Given the description of an element on the screen output the (x, y) to click on. 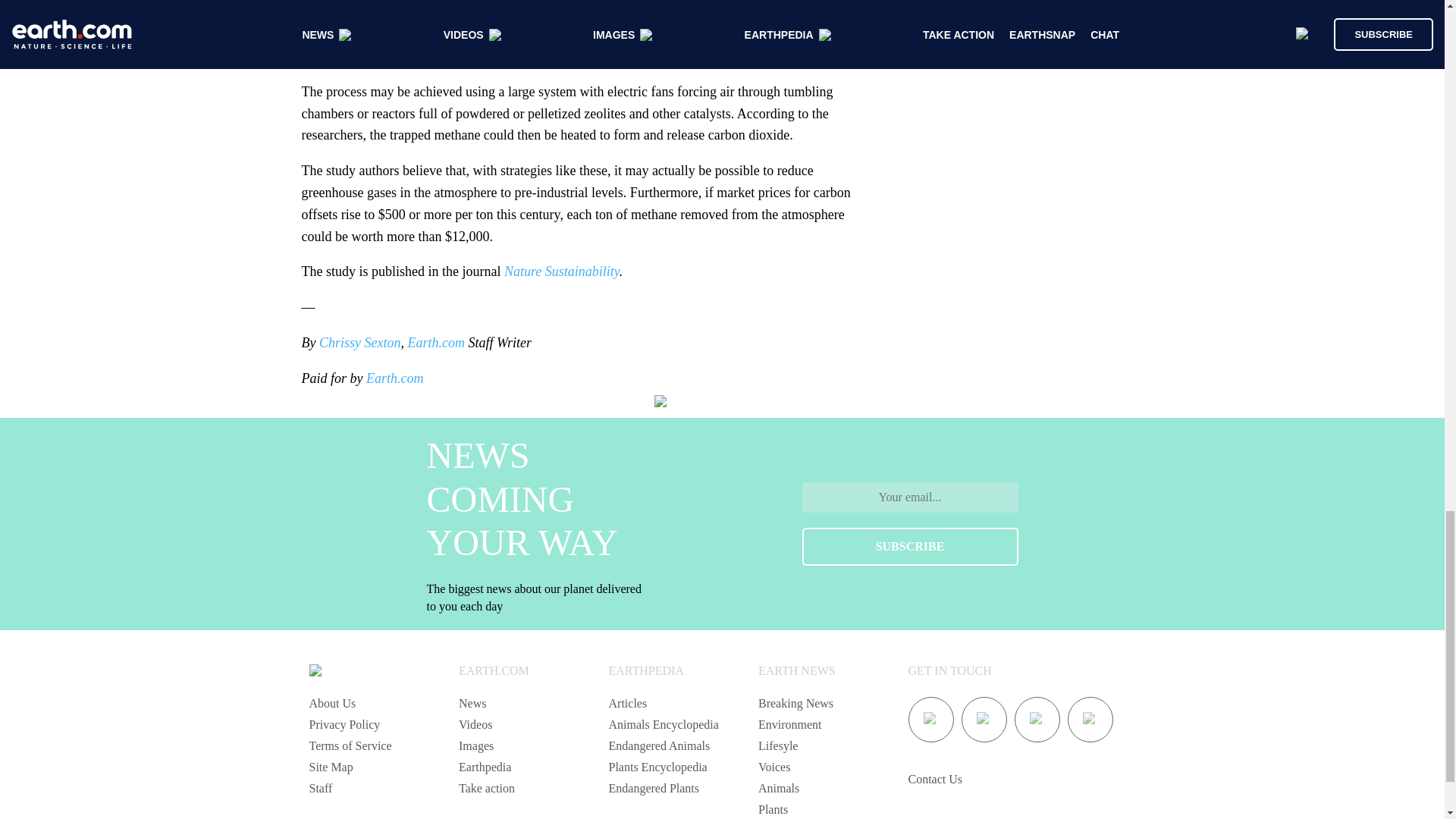
Earth.com (435, 342)
Nature Sustainability (561, 271)
Earth.com (394, 378)
Chrissy Sexton (359, 342)
